Given the description of an element on the screen output the (x, y) to click on. 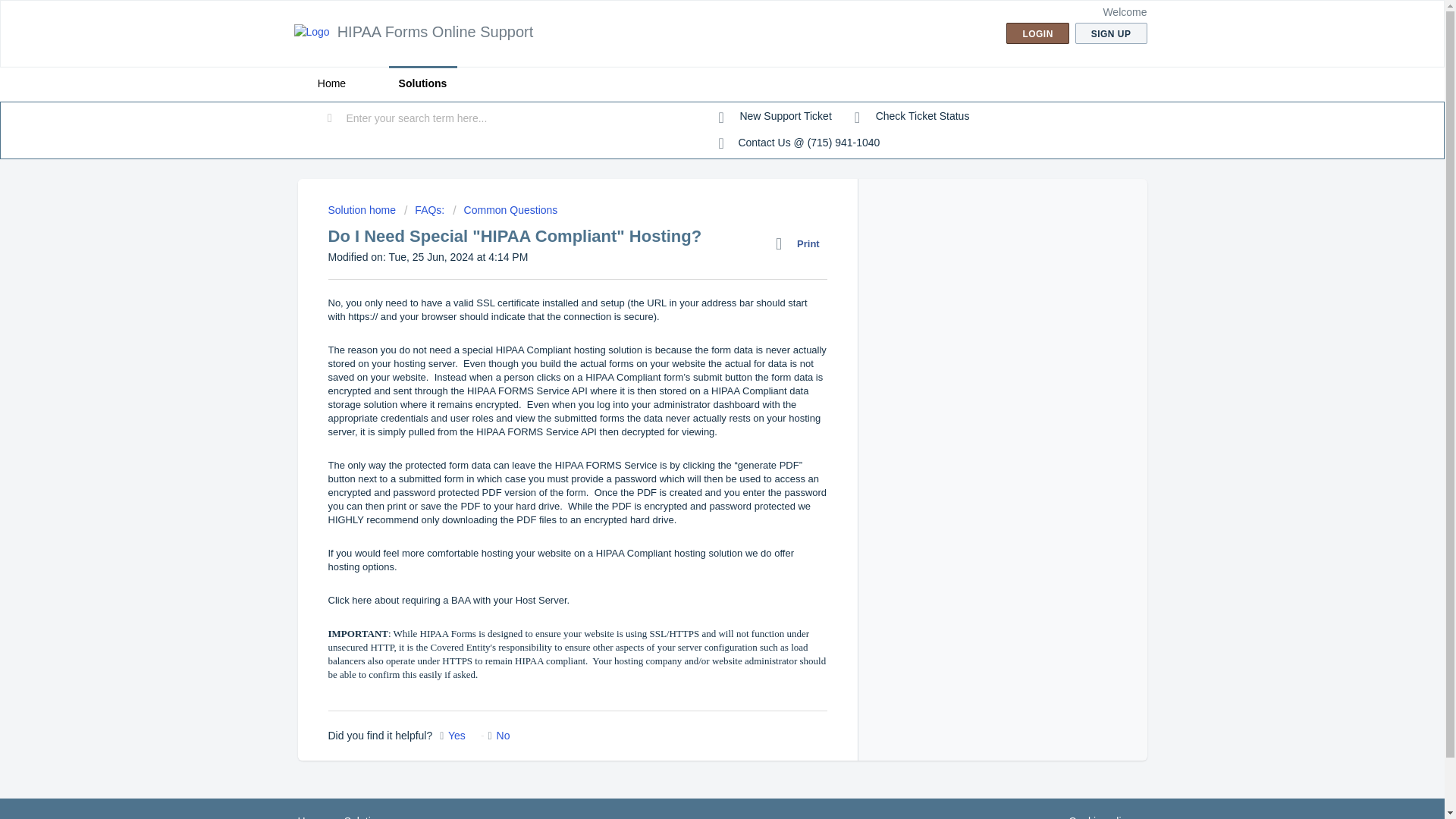
SIGN UP (1111, 33)
Common Questions (504, 209)
FAQs: (424, 209)
LOGIN (1037, 33)
Check ticket status (911, 116)
Why we love Cookies (1099, 816)
Print (801, 243)
Click here about requiring a BAA with your Host Server. (448, 600)
Home (310, 816)
Solutions (365, 816)
